Given the description of an element on the screen output the (x, y) to click on. 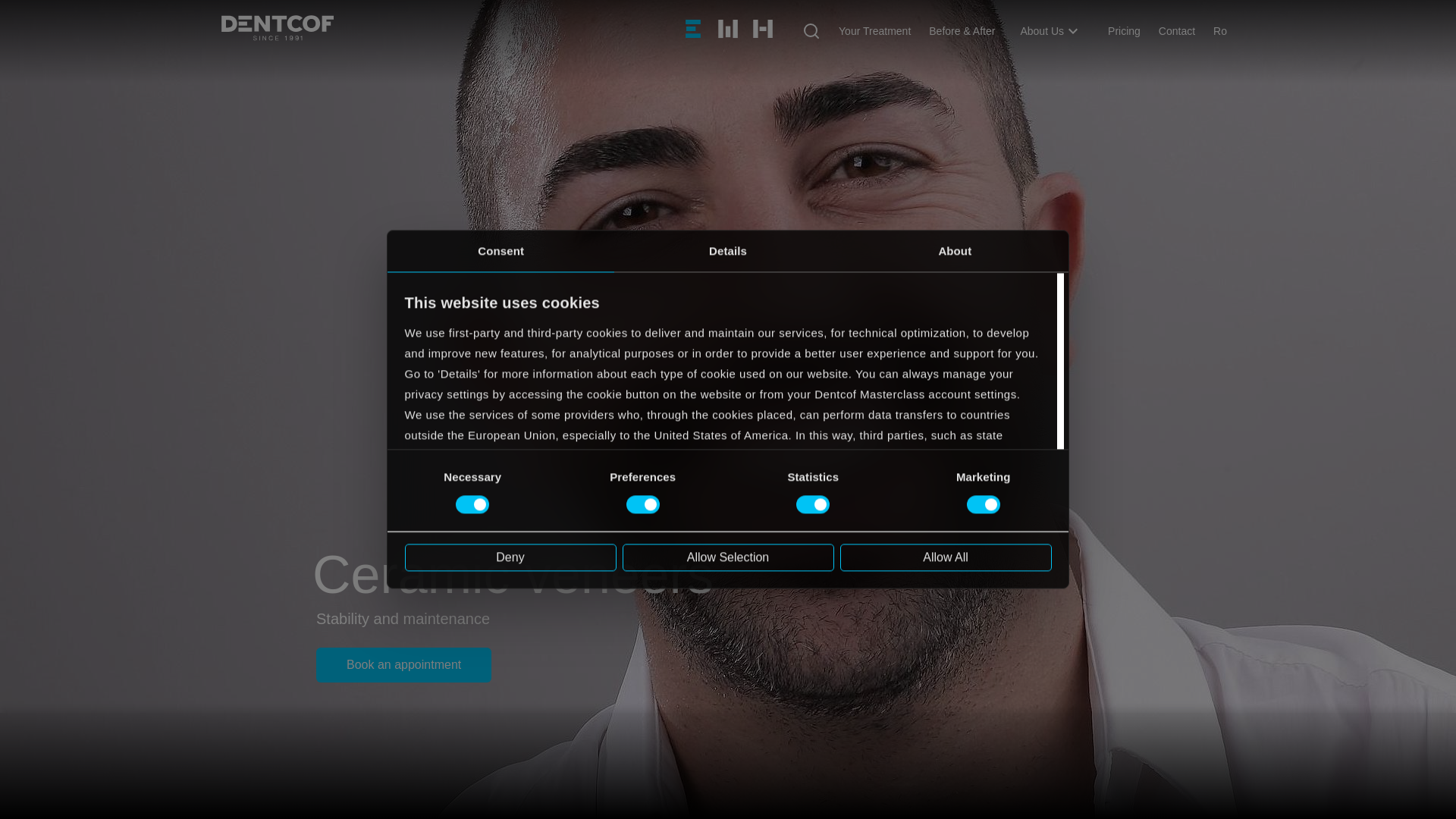
Consent (500, 250)
Allow Selection (726, 556)
About (954, 250)
Allow All (945, 556)
Deny (509, 556)
Details (727, 250)
Cookie Policy (441, 536)
